Given the description of an element on the screen output the (x, y) to click on. 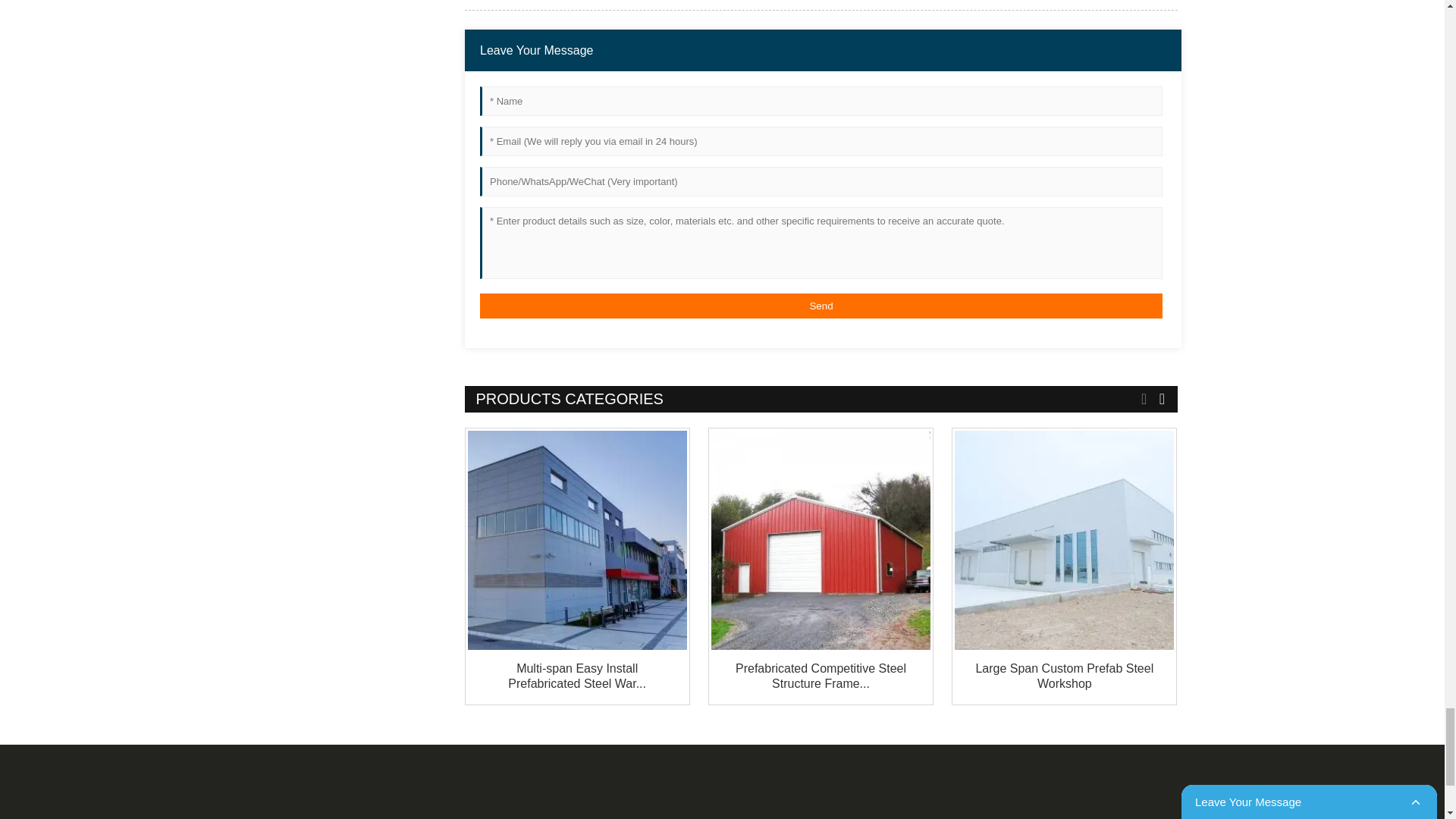
Prefabricated Competitive Steel Structure Frame Building (821, 675)
Large Span Custom Prefab Steel Workshop (1064, 540)
Multi-span Easy Install Prefabricated Steel Warehouse (576, 540)
Large Span Custom Prefab Steel Workshop (1064, 675)
Prefabricated Competitive Steel Structure Frame Building (820, 540)
Multi-span Easy Install Prefabricated Steel Warehouse (576, 675)
